Given the description of an element on the screen output the (x, y) to click on. 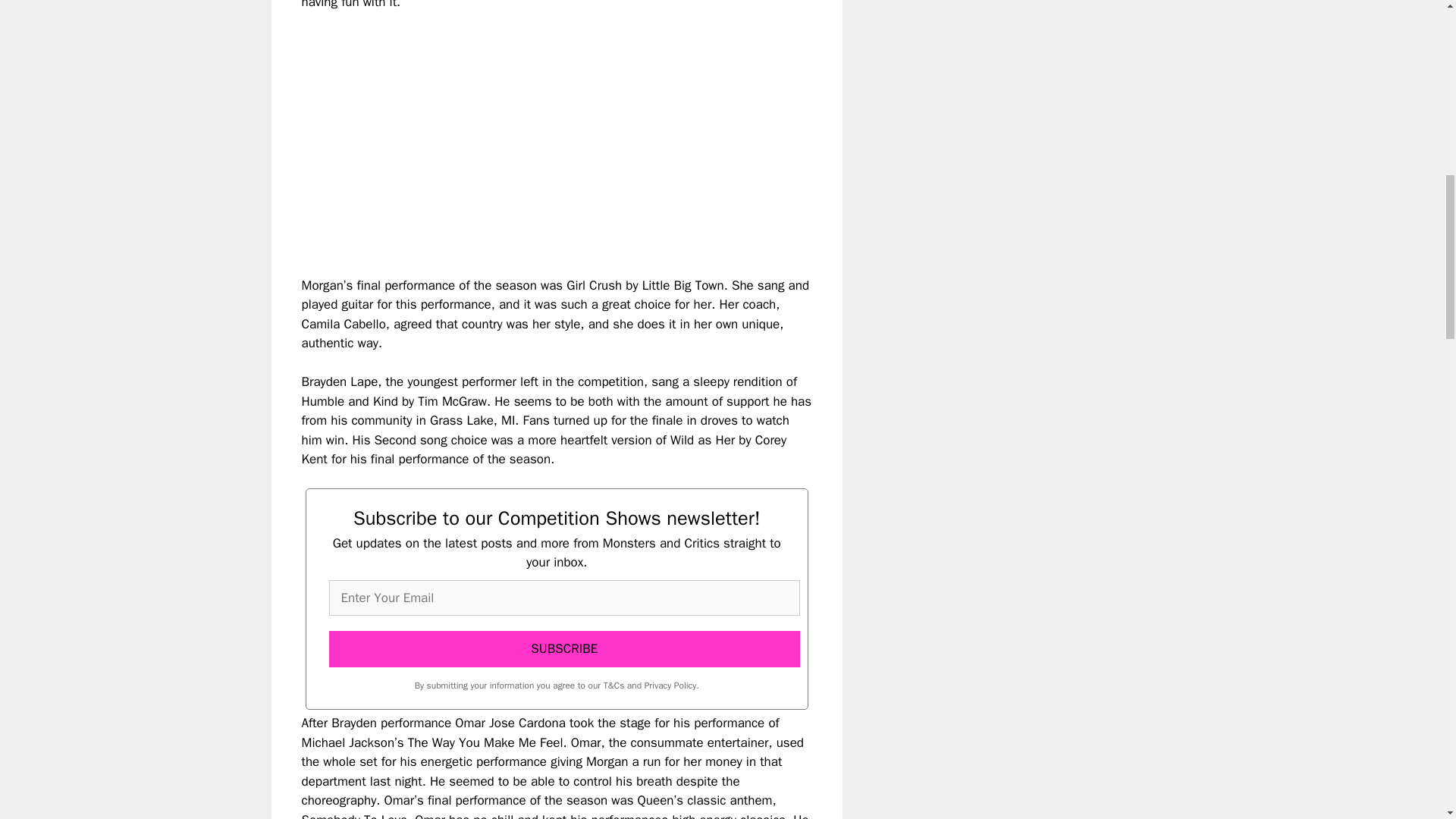
SUBSCRIBE (564, 648)
SUBSCRIBE (564, 648)
YouTube video player (513, 131)
